Given the description of an element on the screen output the (x, y) to click on. 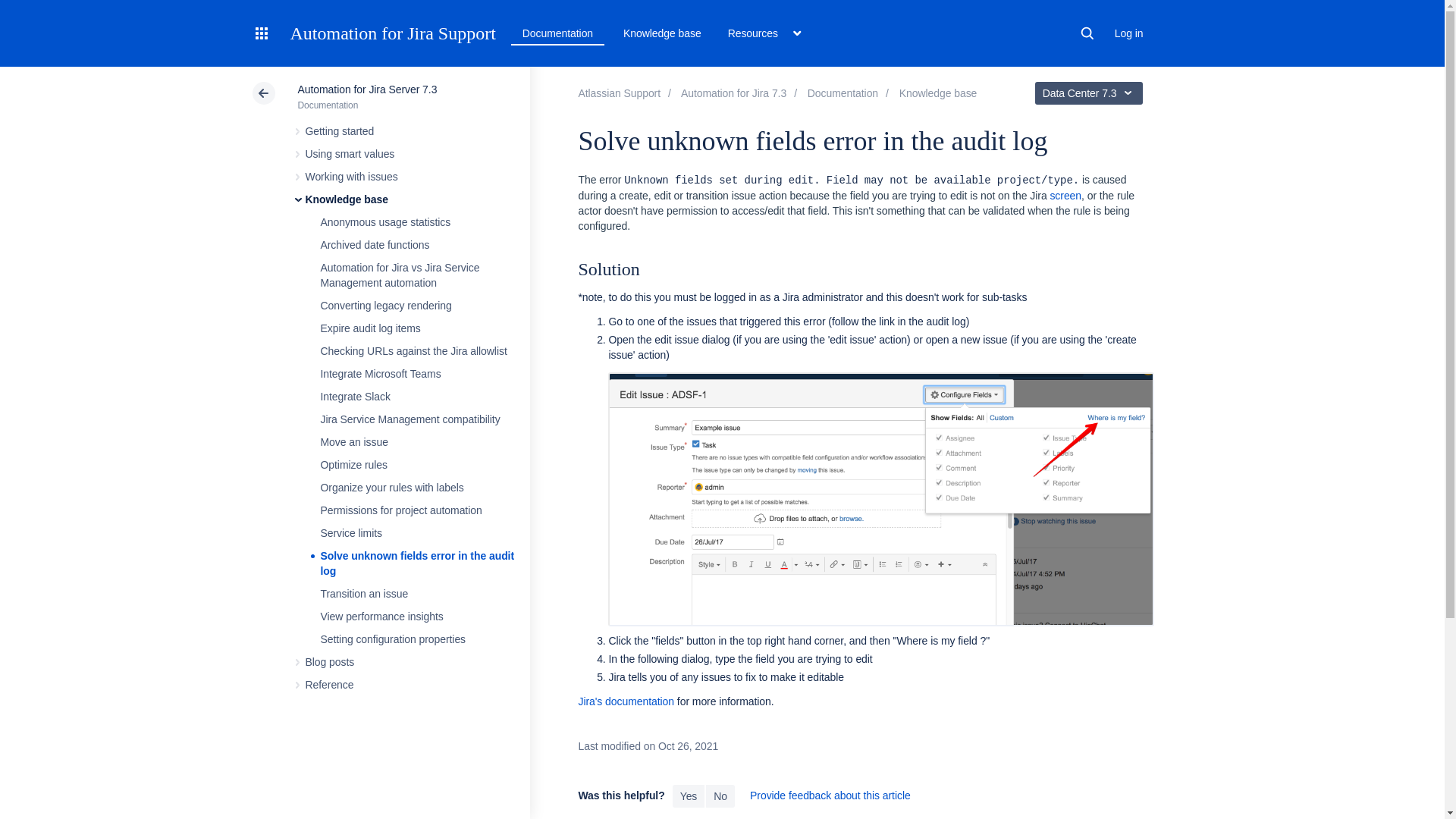
Automation for Jira (733, 92)
Automation for Jira Server 7.3 (842, 92)
Atlassian Support (619, 92)
Documentation (557, 33)
Knowledge base (662, 33)
Search (1087, 33)
Automation for Jira Support (392, 33)
Knowledge base (937, 92)
Log in (1128, 33)
